Given the description of an element on the screen output the (x, y) to click on. 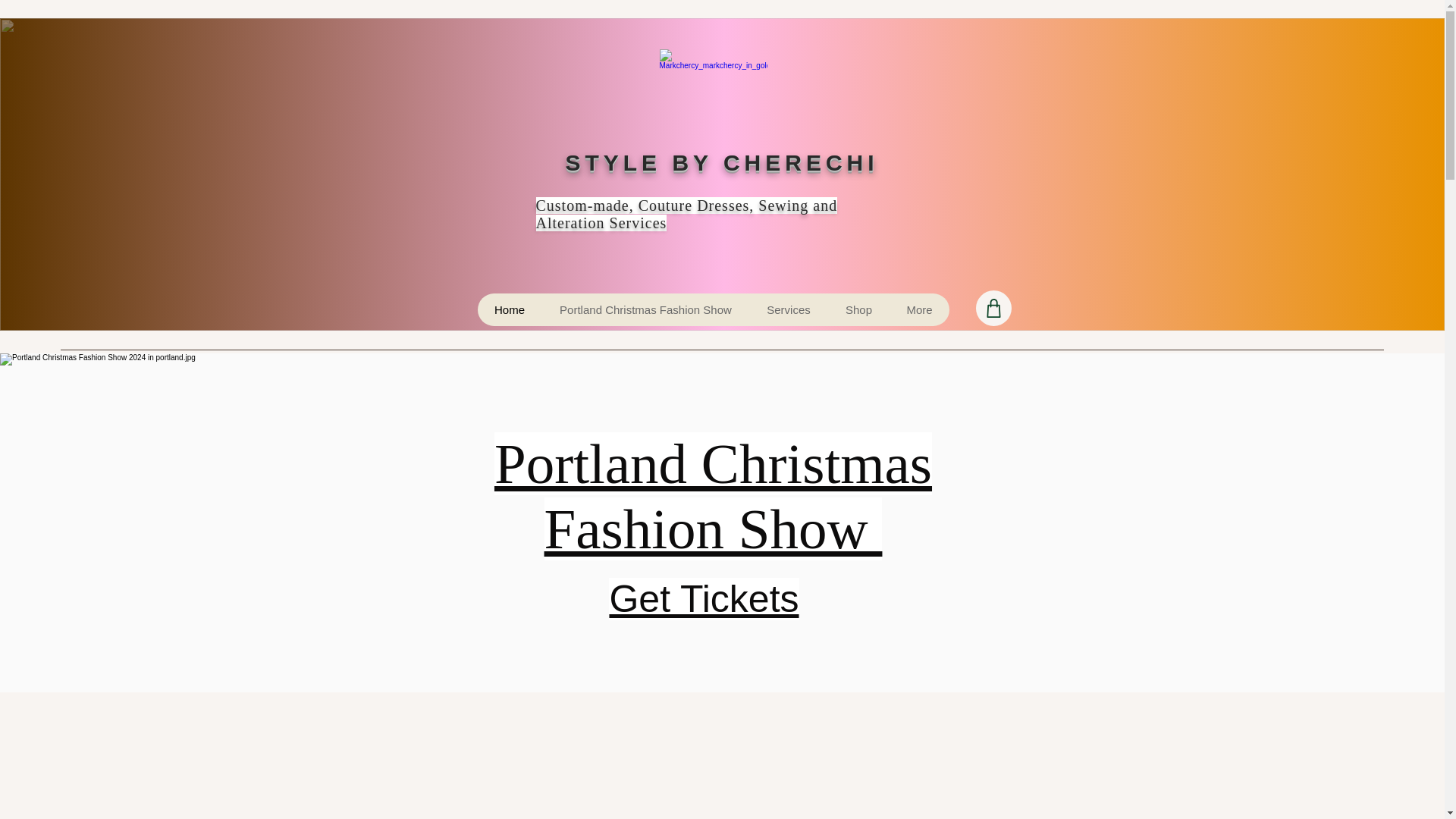
Portland Christmas Fashion Show  (713, 496)
Shop (858, 309)
Home (509, 309)
Get Tickets (702, 598)
Portland Christmas Fashion Show (644, 309)
Services (788, 309)
